Given the description of an element on the screen output the (x, y) to click on. 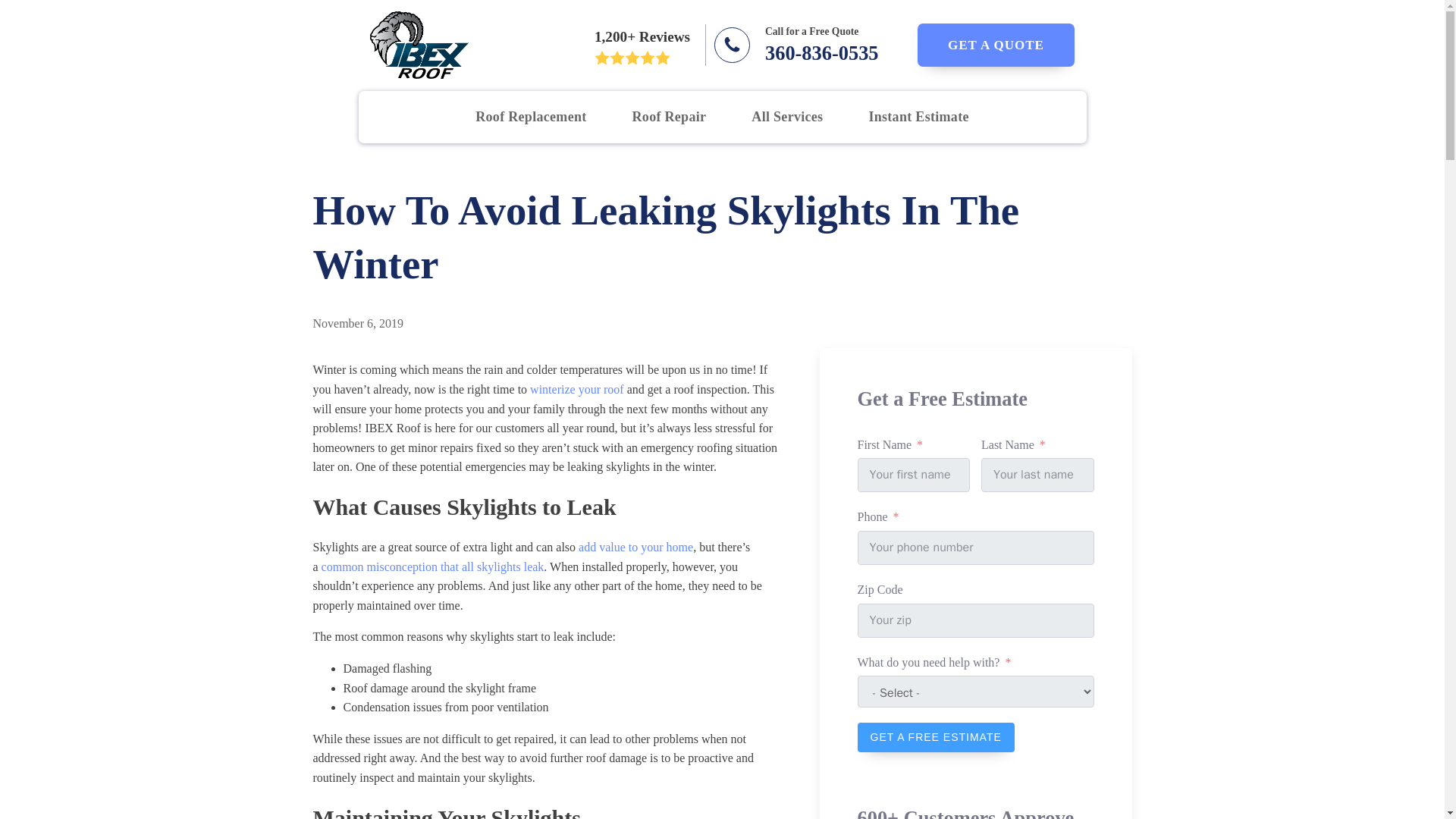
Instant Estimate (918, 116)
All Services (787, 116)
Roof Replacement (815, 45)
GET A QUOTE (530, 116)
Roof Repair (995, 44)
